Given the description of an element on the screen output the (x, y) to click on. 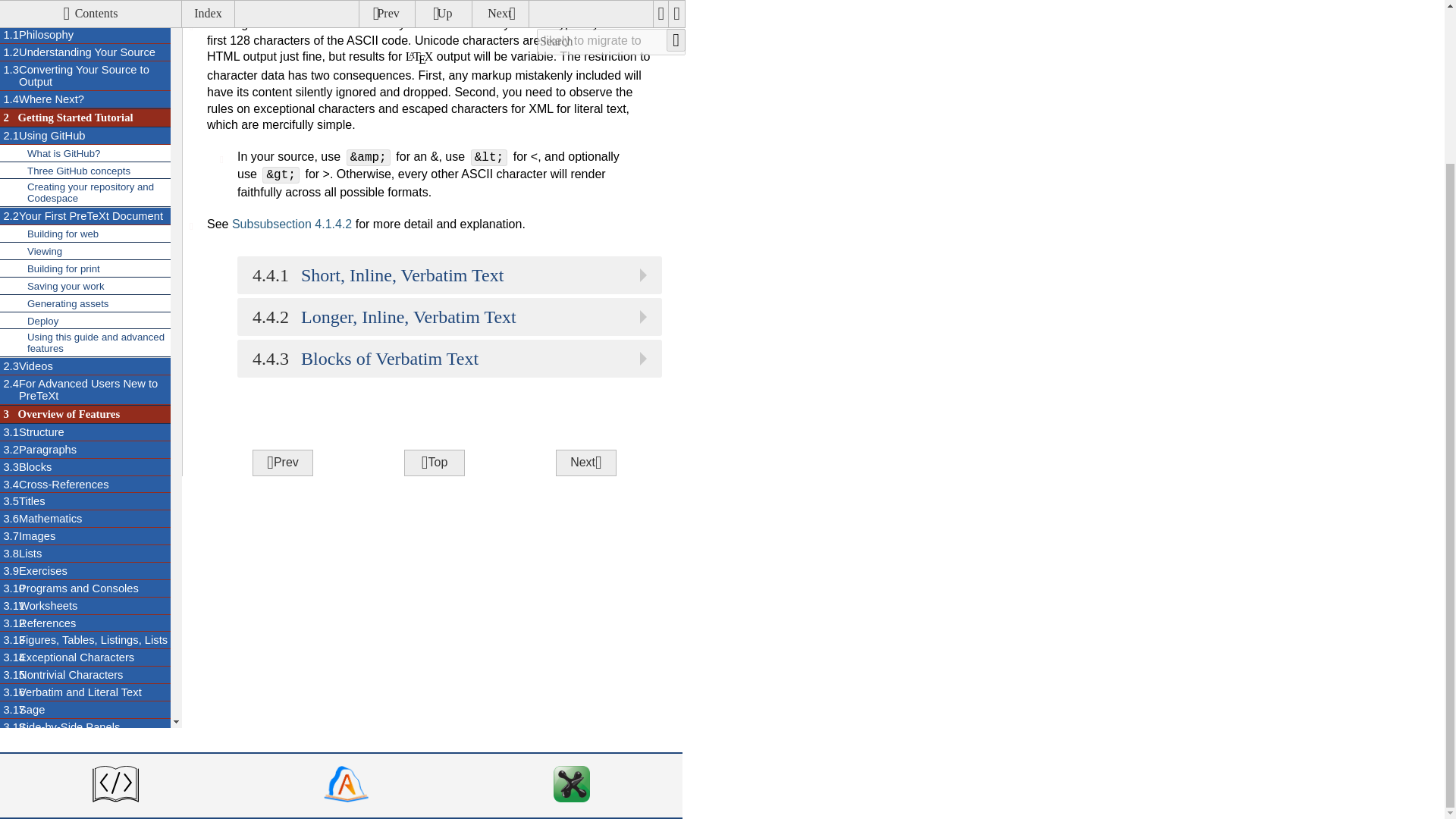
Subsubsection 4.1.4.2: Exceptional Keyboard Characters (85, 54)
Three GitHub concepts (291, 223)
Creating your repository and Codespace (85, 125)
Viewing (85, 147)
Top (85, 72)
Building for web (85, 205)
Previous (434, 462)
Next (85, 188)
What is GitHub? (282, 462)
